Given the description of an element on the screen output the (x, y) to click on. 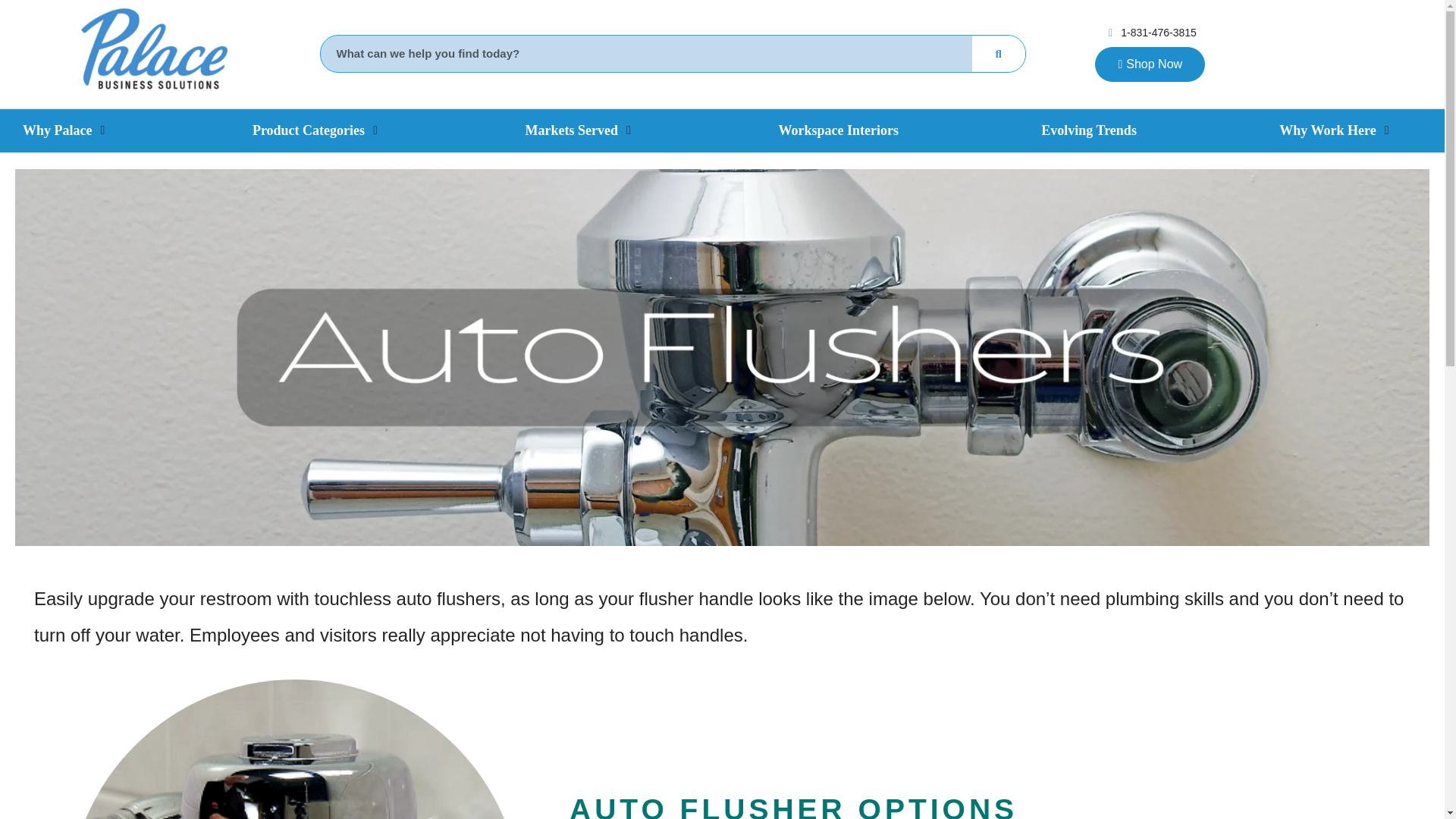
1-831-476-3815 (1150, 32)
Shop Now (1149, 63)
Why Palace (58, 130)
Markets Served (571, 130)
Product Categories (308, 130)
